Given the description of an element on the screen output the (x, y) to click on. 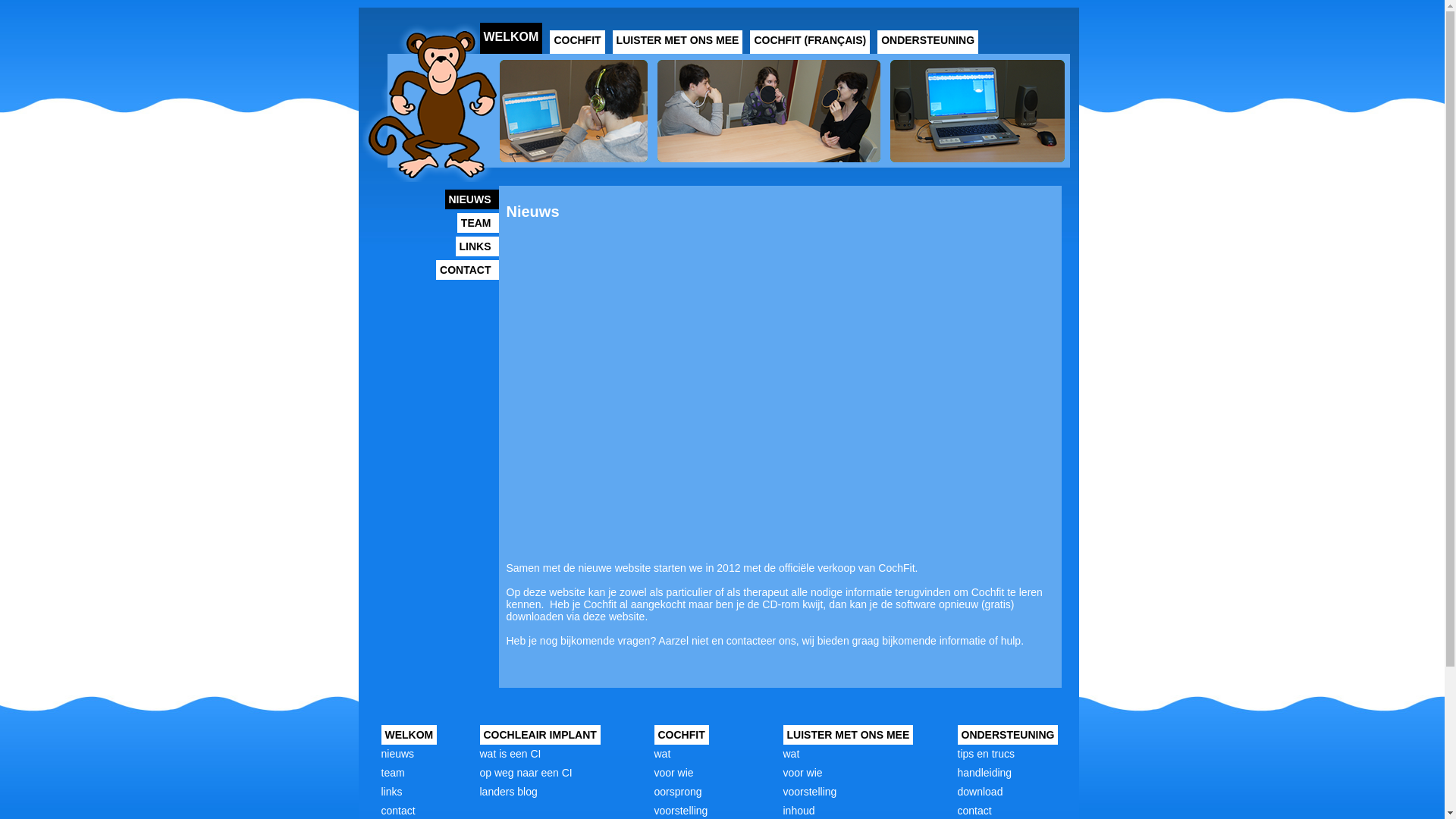
WELKOM Element type: text (510, 37)
NIEUWS Element type: text (471, 199)
landers blog Element type: text (507, 791)
ONDERSTEUNING Element type: text (927, 41)
inhoud Element type: text (798, 810)
oorsprong Element type: text (677, 791)
download Element type: text (979, 791)
nieuws Element type: text (397, 753)
op weg naar een CI Element type: text (525, 772)
voor wie Element type: text (802, 772)
voorstelling Element type: text (680, 810)
LINKS Element type: text (476, 246)
voorstelling Element type: text (809, 791)
tips en trucs Element type: text (985, 753)
voor wie Element type: text (673, 772)
contact Element type: text (974, 810)
LUISTER MET ONS MEE Element type: text (677, 41)
team Element type: text (392, 772)
wat is een CI Element type: text (509, 753)
contact Element type: text (397, 810)
CONTACT Element type: text (467, 269)
handleiding Element type: text (984, 772)
TEAM Element type: text (477, 222)
wat Element type: text (661, 753)
wat Element type: text (790, 753)
COCHFIT Element type: text (576, 41)
links Element type: text (390, 791)
